Given the description of an element on the screen output the (x, y) to click on. 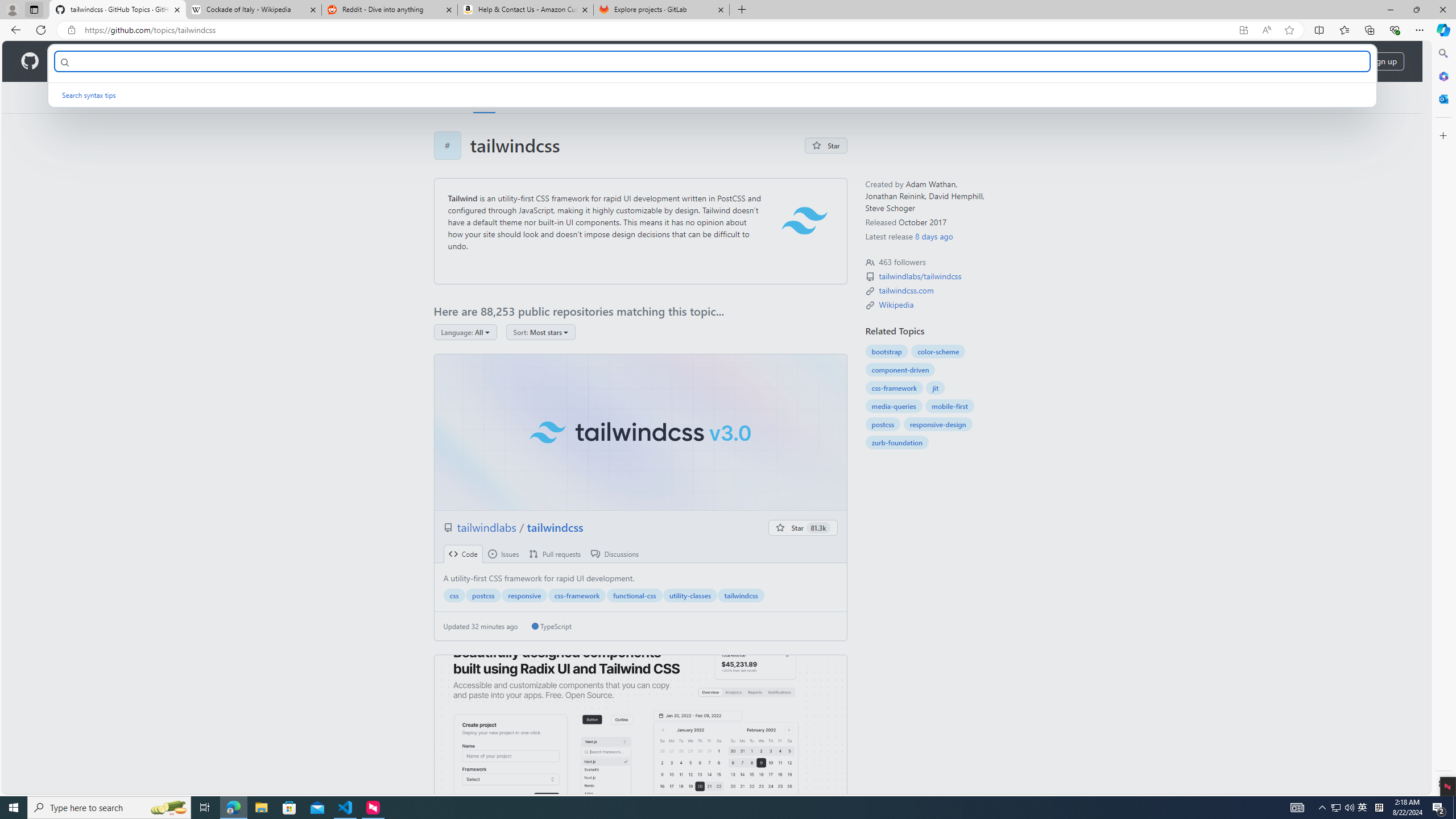
tailwindcss (740, 594)
Product (74, 60)
App available. Install GitHub (1243, 29)
 Discussions (615, 553)
 Issues (502, 553)
ui (640, 733)
Sort: Most stars (540, 331)
Product (74, 60)
 Pull requests (555, 553)
tailwindlabs  (488, 526)
